Given the description of an element on the screen output the (x, y) to click on. 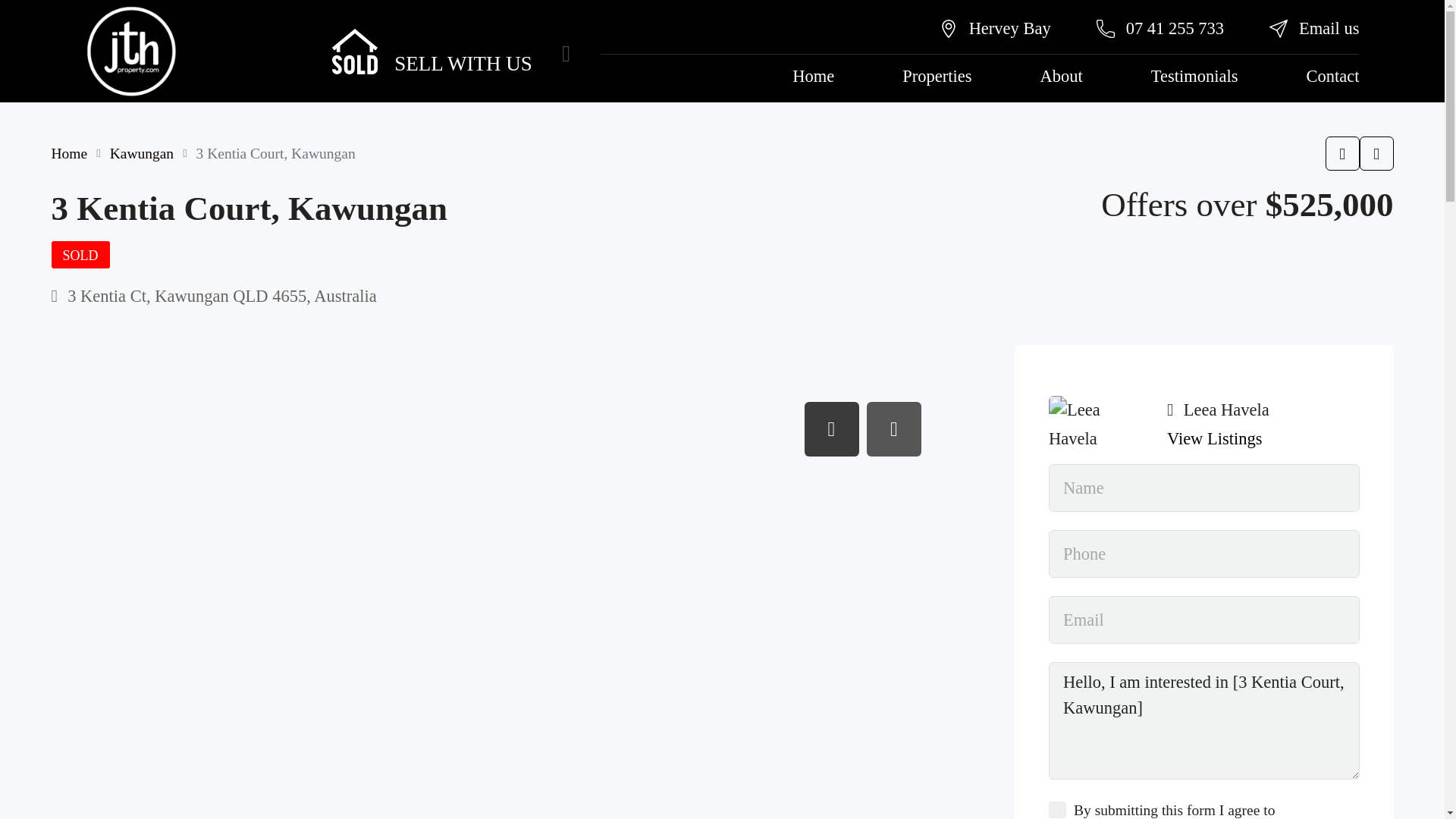
About (706, 51)
Contact (887, 51)
Testimonials (795, 51)
Home (542, 51)
Properties (625, 51)
SELL WITH US (309, 42)
Email us (875, 18)
